Given the description of an element on the screen output the (x, y) to click on. 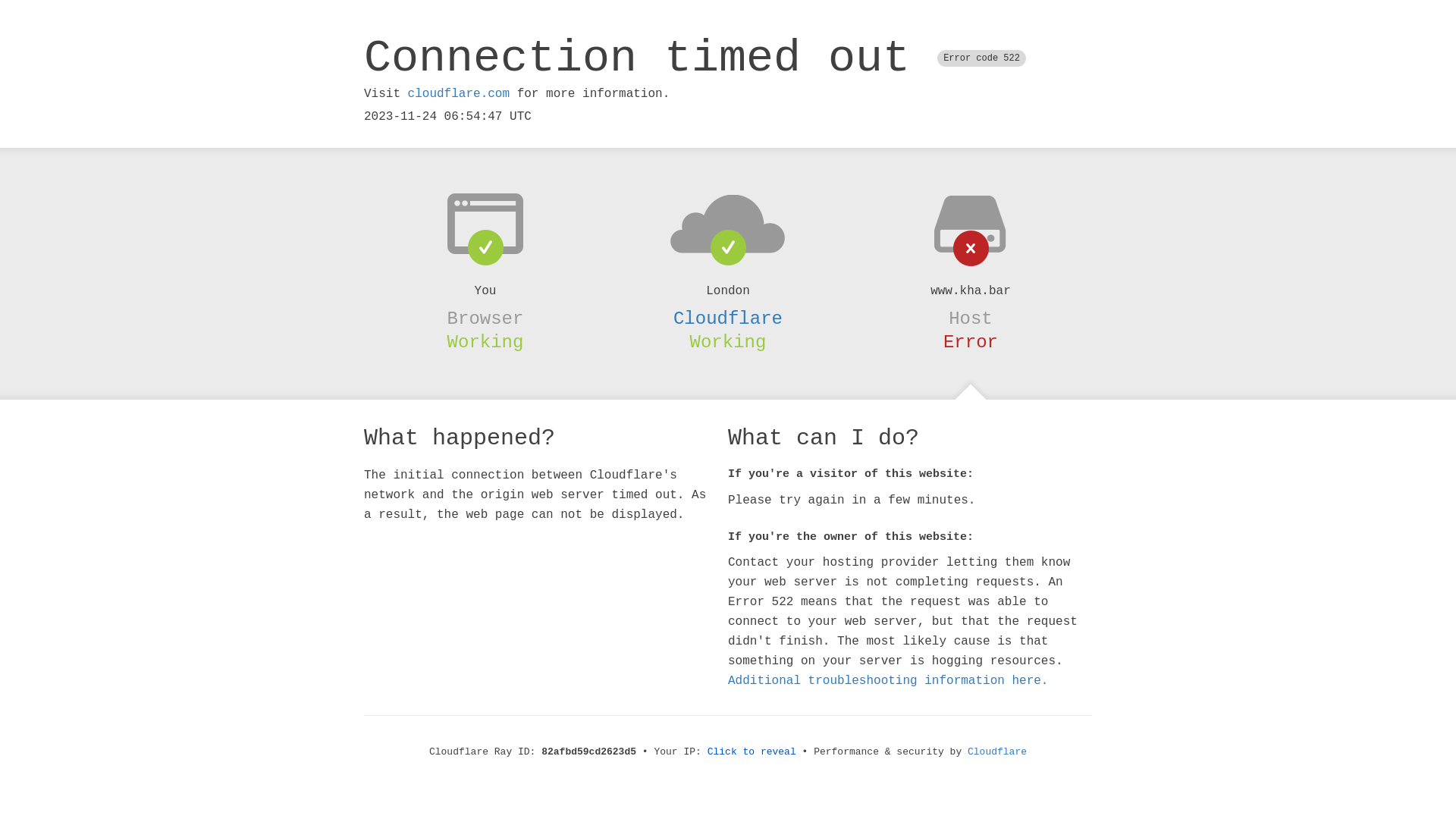
Cloudflare Element type: text (996, 751)
Cloudflare Element type: text (727, 318)
cloudflare.com Element type: text (458, 93)
Click to reveal Element type: text (751, 751)
Additional troubleshooting information here. Element type: text (888, 680)
